Given the description of an element on the screen output the (x, y) to click on. 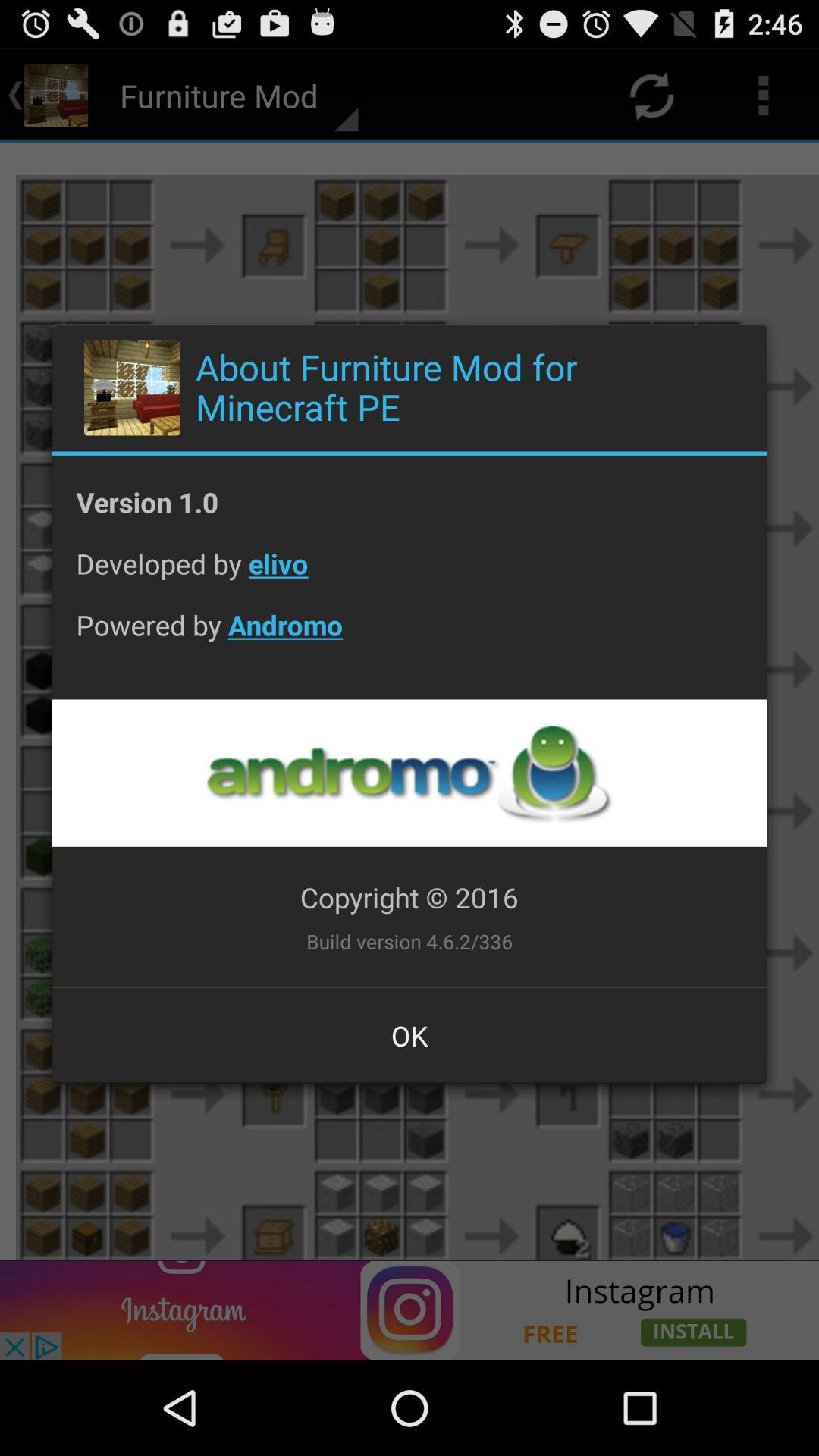
open item above the powered by andromo icon (409, 575)
